Given the description of an element on the screen output the (x, y) to click on. 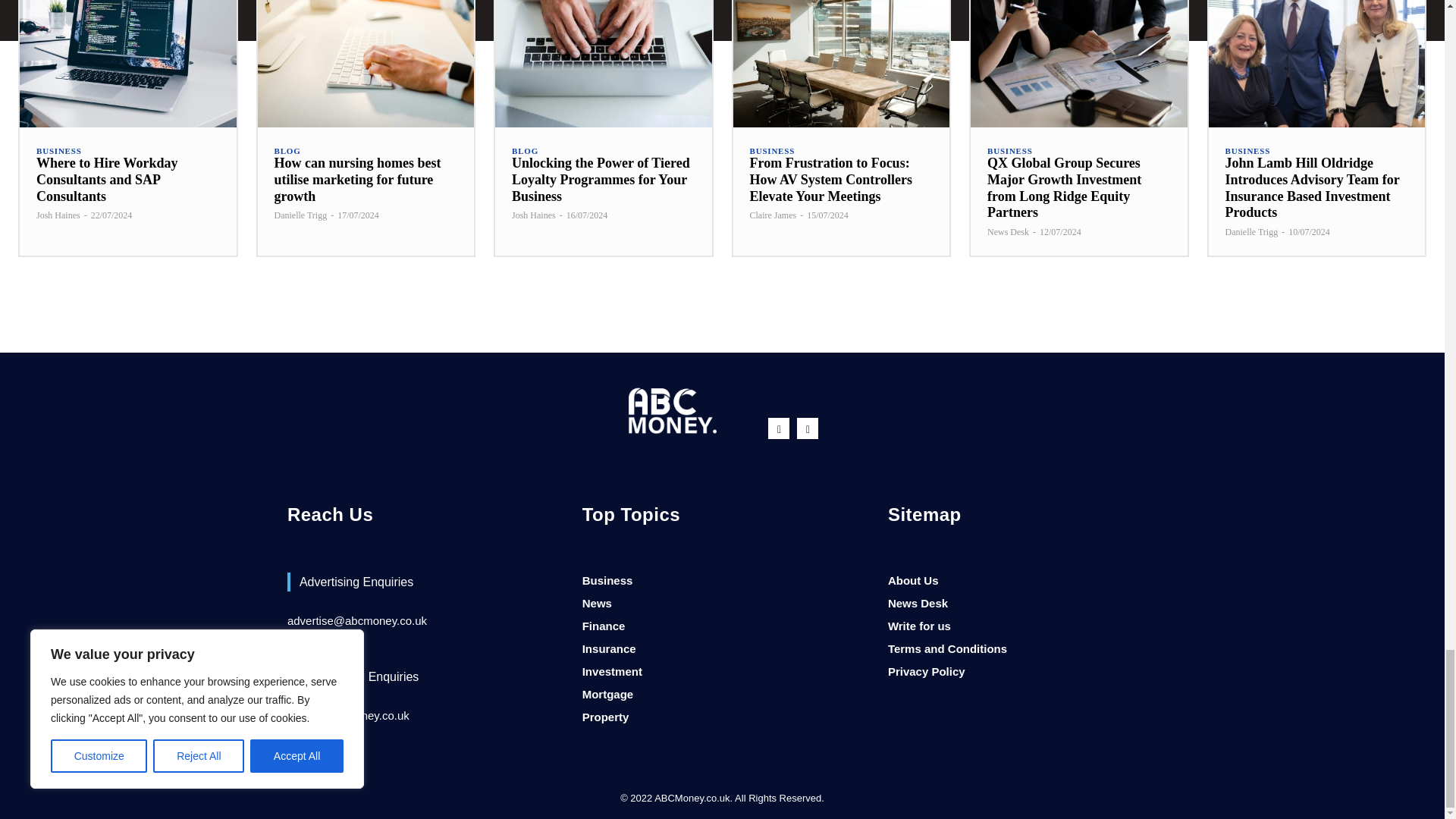
Where to Hire Workday Consultants and SAP Consultants (127, 63)
Where to Hire Workday Consultants and SAP Consultants (106, 179)
